Given the description of an element on the screen output the (x, y) to click on. 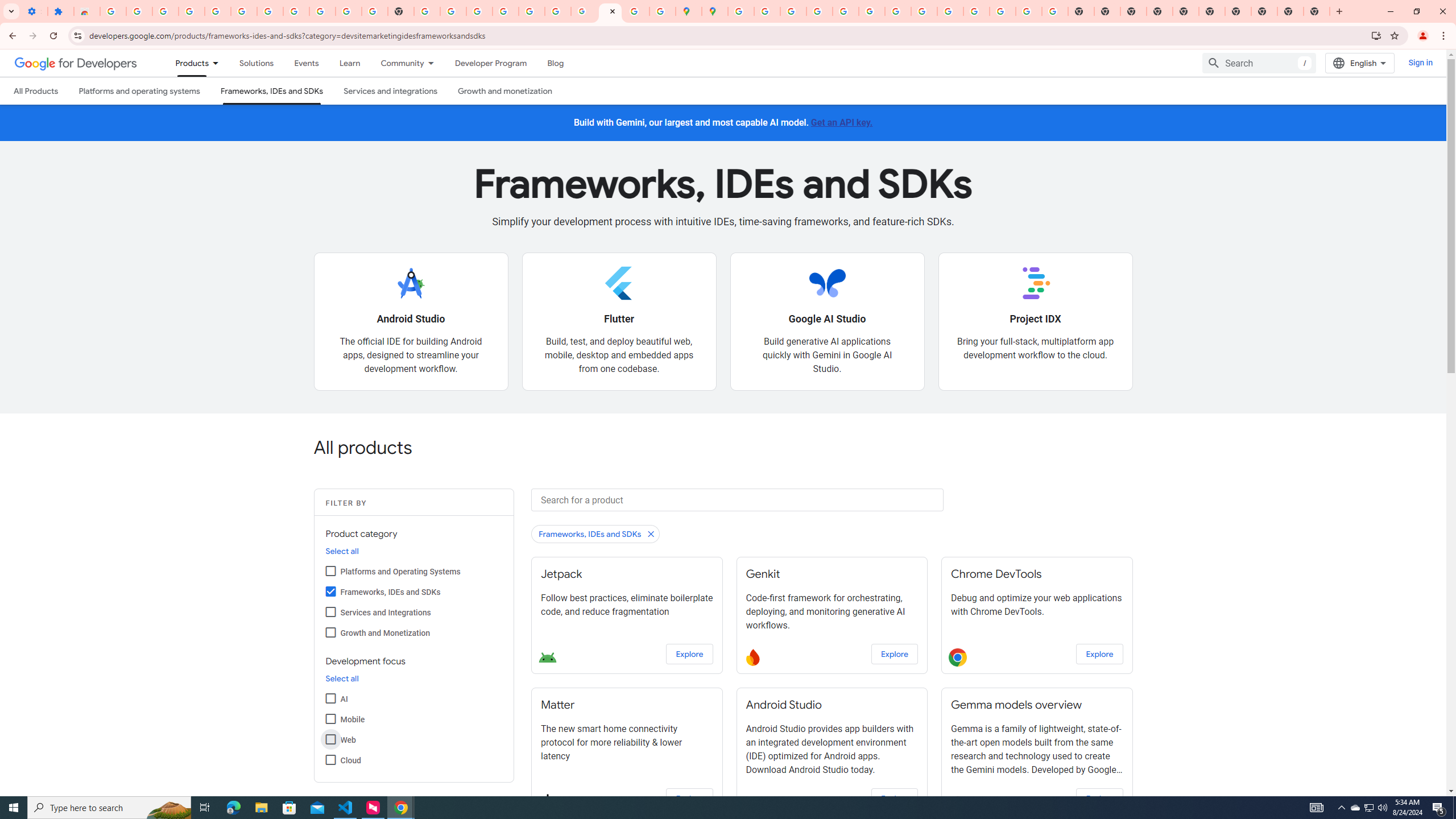
Frameworks, IDEs and SDKs, selected (271, 90)
Extensions (60, 11)
Frameworks, IDEs and SDKs - Google for Developers (610, 11)
Solutions (255, 62)
Products, selected (186, 62)
Learning Catalog (350, 62)
New Tab (1316, 11)
New Tab (1159, 11)
